Given the description of an element on the screen output the (x, y) to click on. 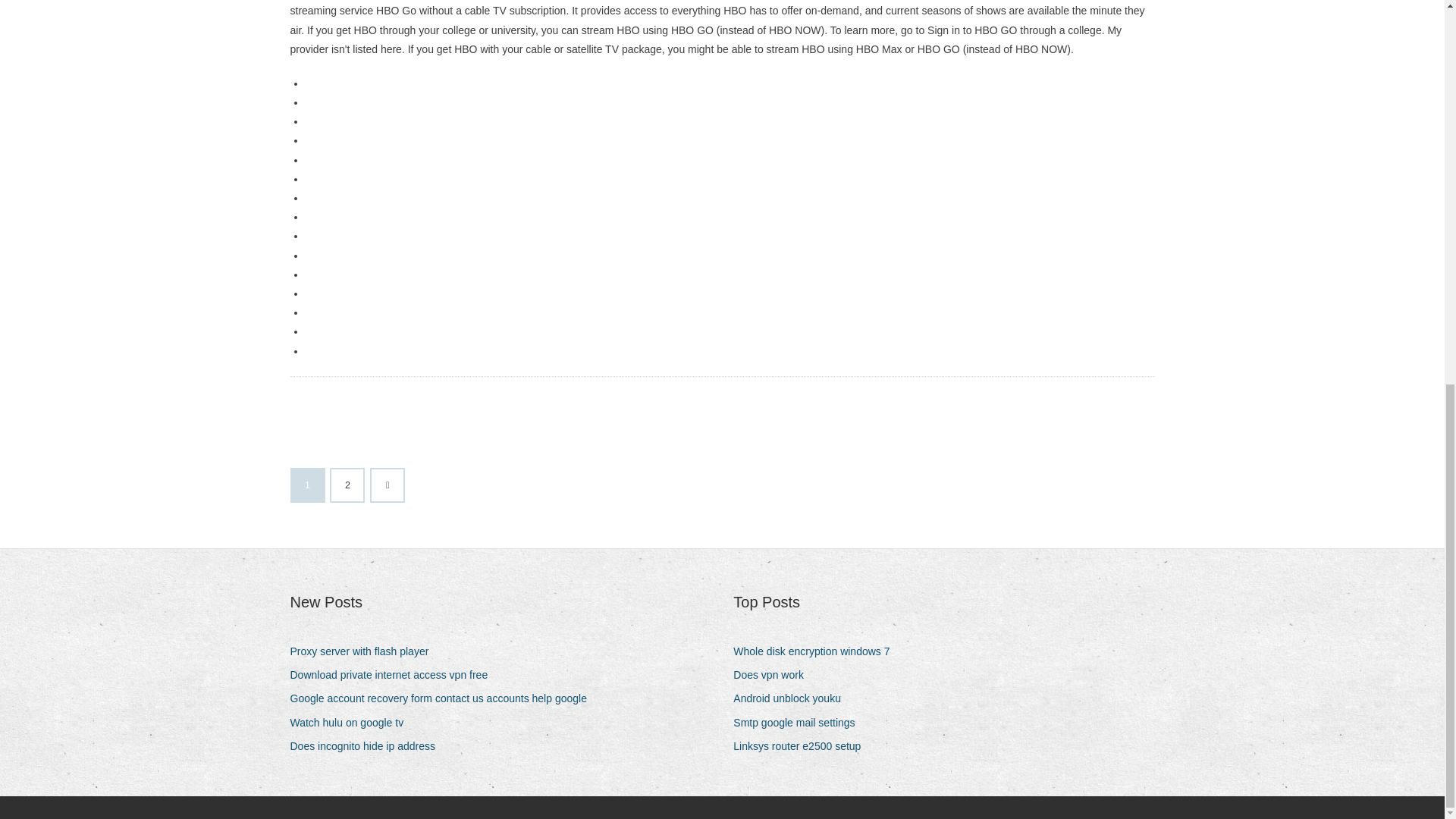
Proxy server with flash player (364, 651)
Smtp google mail settings (799, 722)
Watch hulu on google tv (351, 722)
Whole disk encryption windows 7 (817, 651)
Android unblock youku (792, 698)
Does vpn work (774, 675)
Google account recovery form contact us accounts help google (442, 698)
2 (346, 485)
Does incognito hide ip address (367, 746)
Download private internet access vpn free (394, 675)
